Given the description of an element on the screen output the (x, y) to click on. 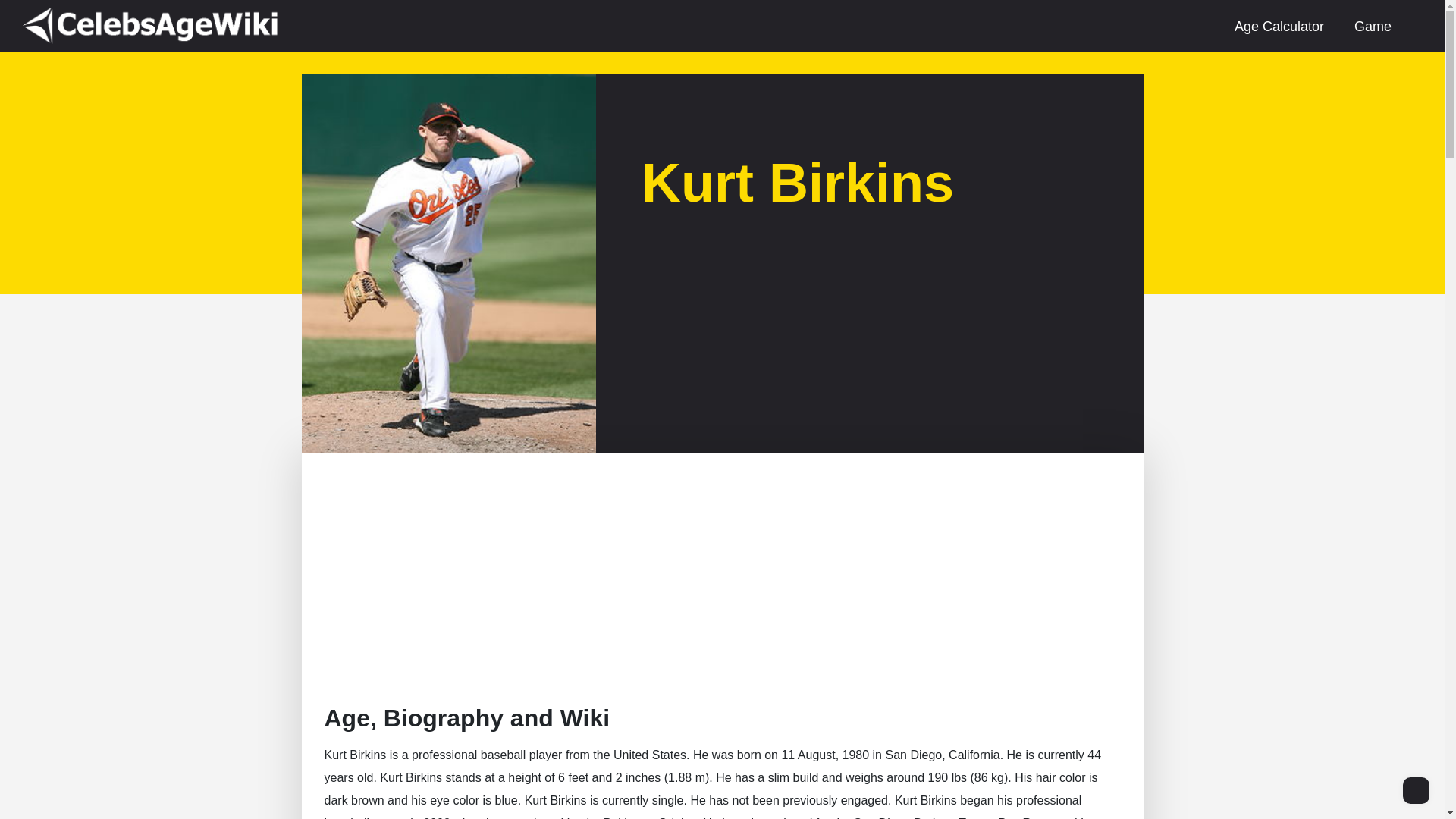
Age Calculator (1279, 26)
Game (1372, 26)
